Given the description of an element on the screen output the (x, y) to click on. 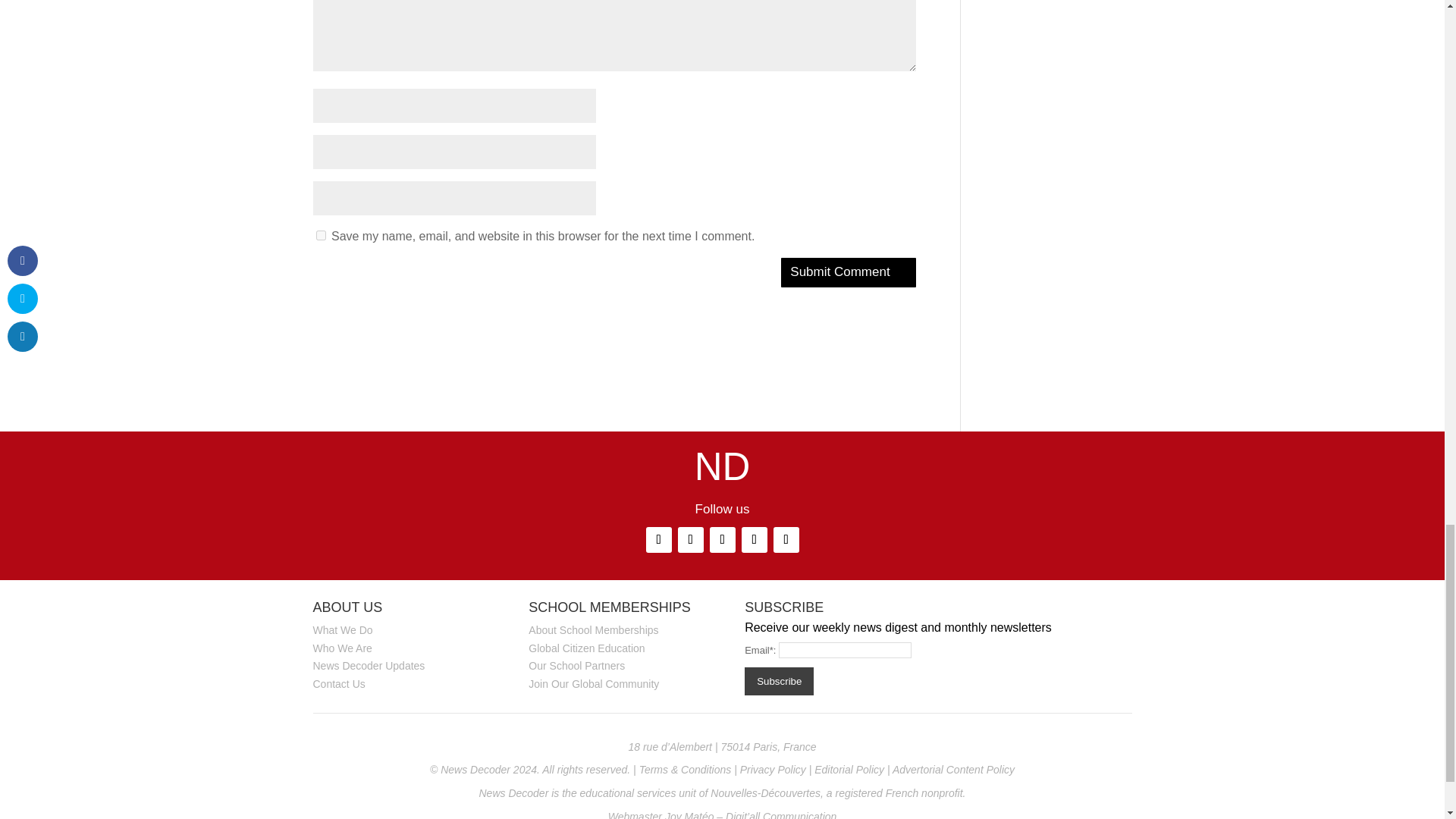
Follow on X (754, 539)
Follow on Youtube (786, 539)
yes (319, 235)
Follow on Facebook (722, 539)
Follow on Instagram (690, 539)
Follow on LinkedIn (658, 539)
Submit Comment (847, 272)
